Given the description of an element on the screen output the (x, y) to click on. 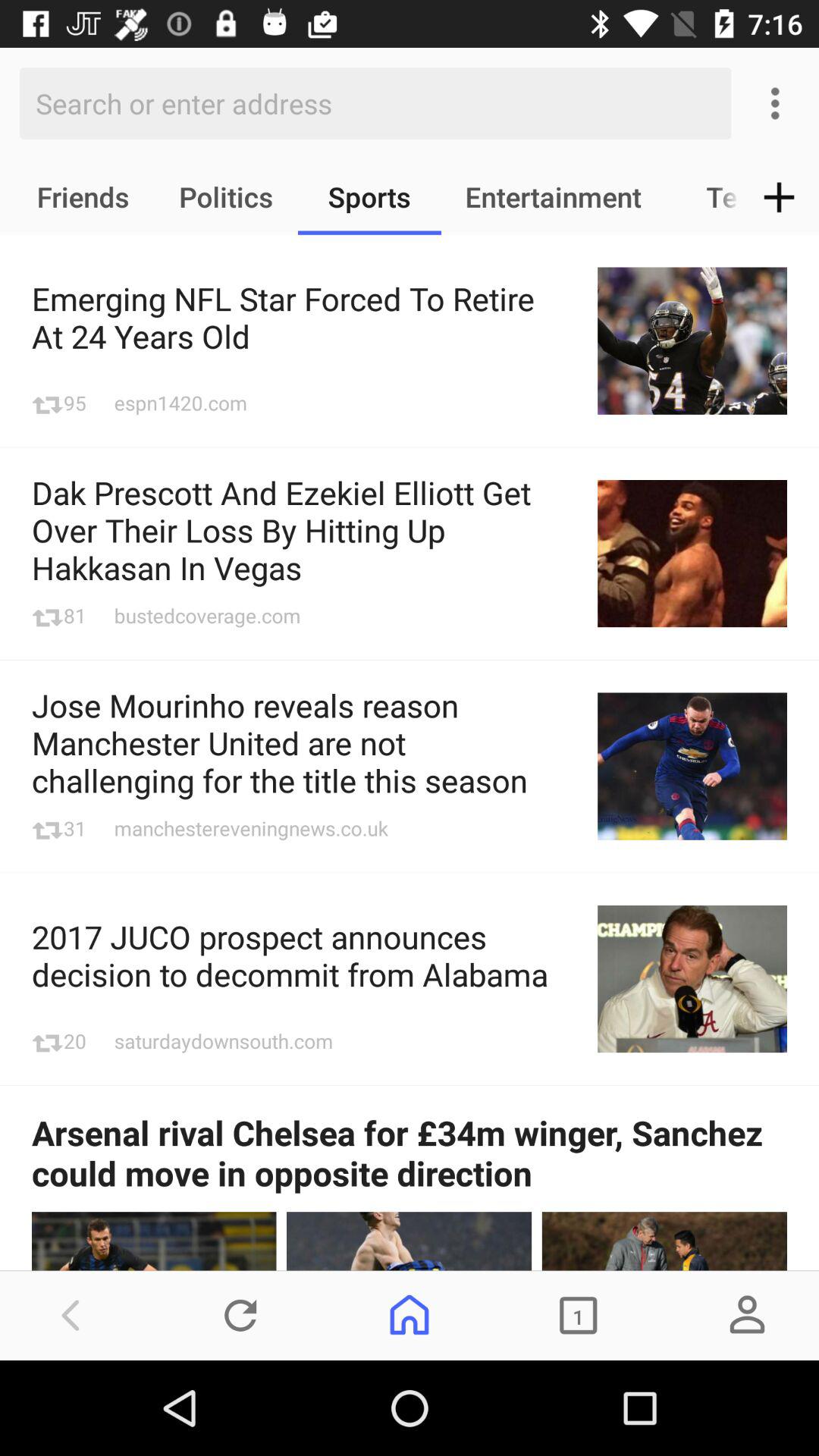
click icon next to the tech (779, 196)
